Given the description of an element on the screen output the (x, y) to click on. 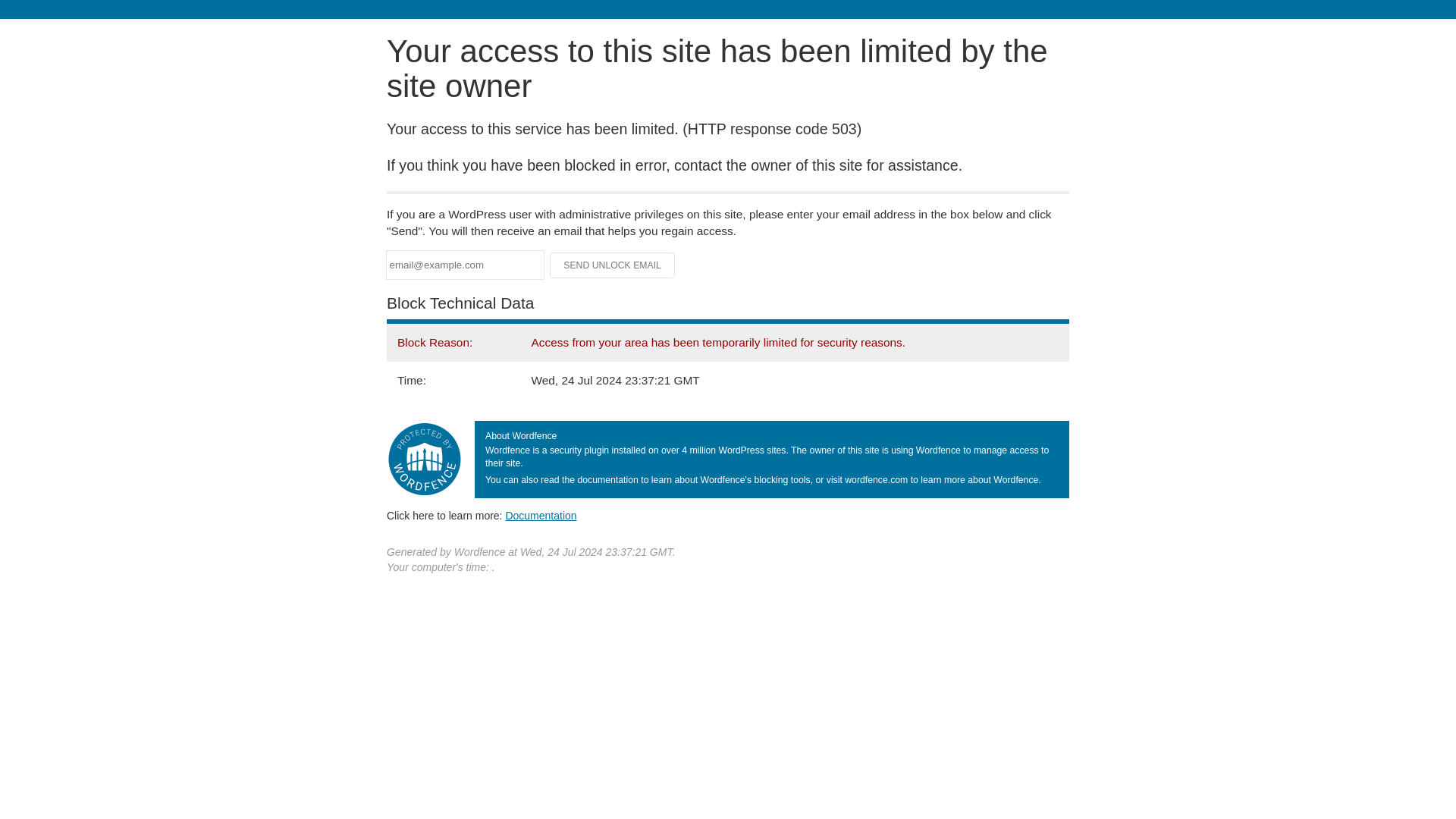
Documentation (540, 515)
Send Unlock Email (612, 265)
Send Unlock Email (612, 265)
